Given the description of an element on the screen output the (x, y) to click on. 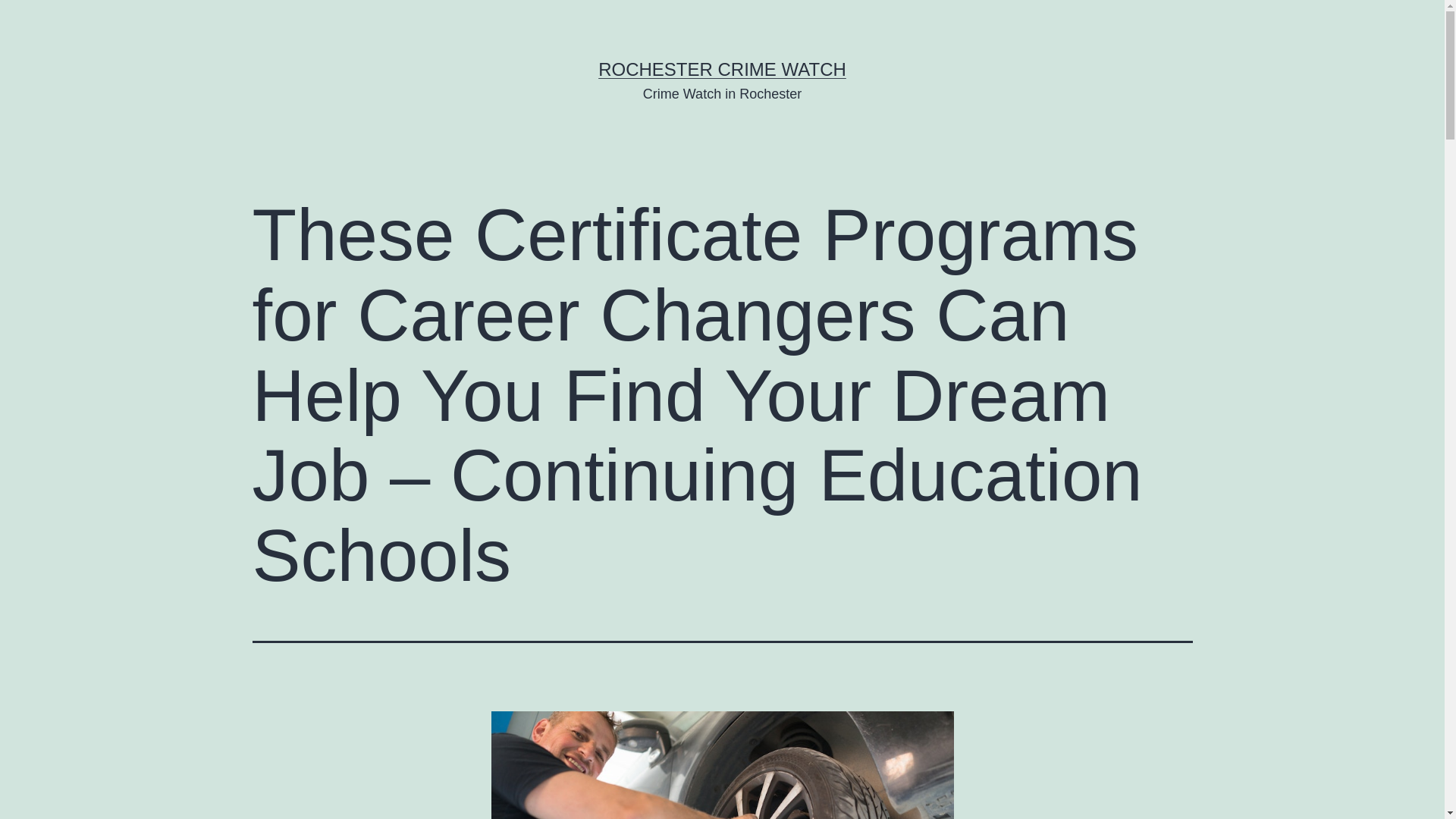
ROCHESTER CRIME WATCH (721, 68)
